Given the description of an element on the screen output the (x, y) to click on. 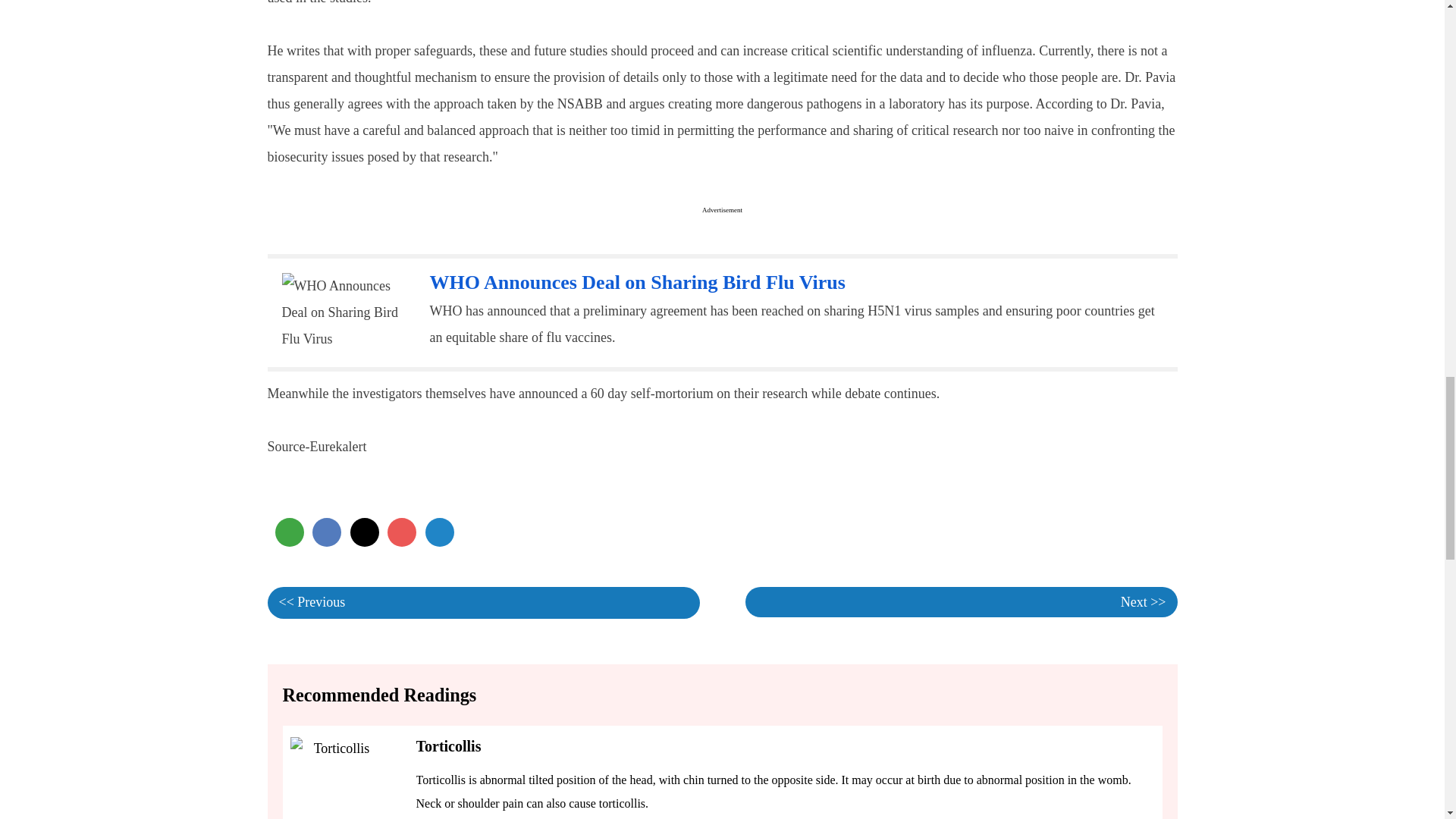
WHO Announces Deal on Sharing Bird Flu Virus (636, 282)
Pinterest (401, 532)
Linkedin (438, 532)
Twitter (364, 532)
Pinterest (401, 532)
Facebook (326, 532)
Linkedin (438, 532)
WHO Announces Deal on Sharing Bird Flu Virus (636, 282)
